Given the description of an element on the screen output the (x, y) to click on. 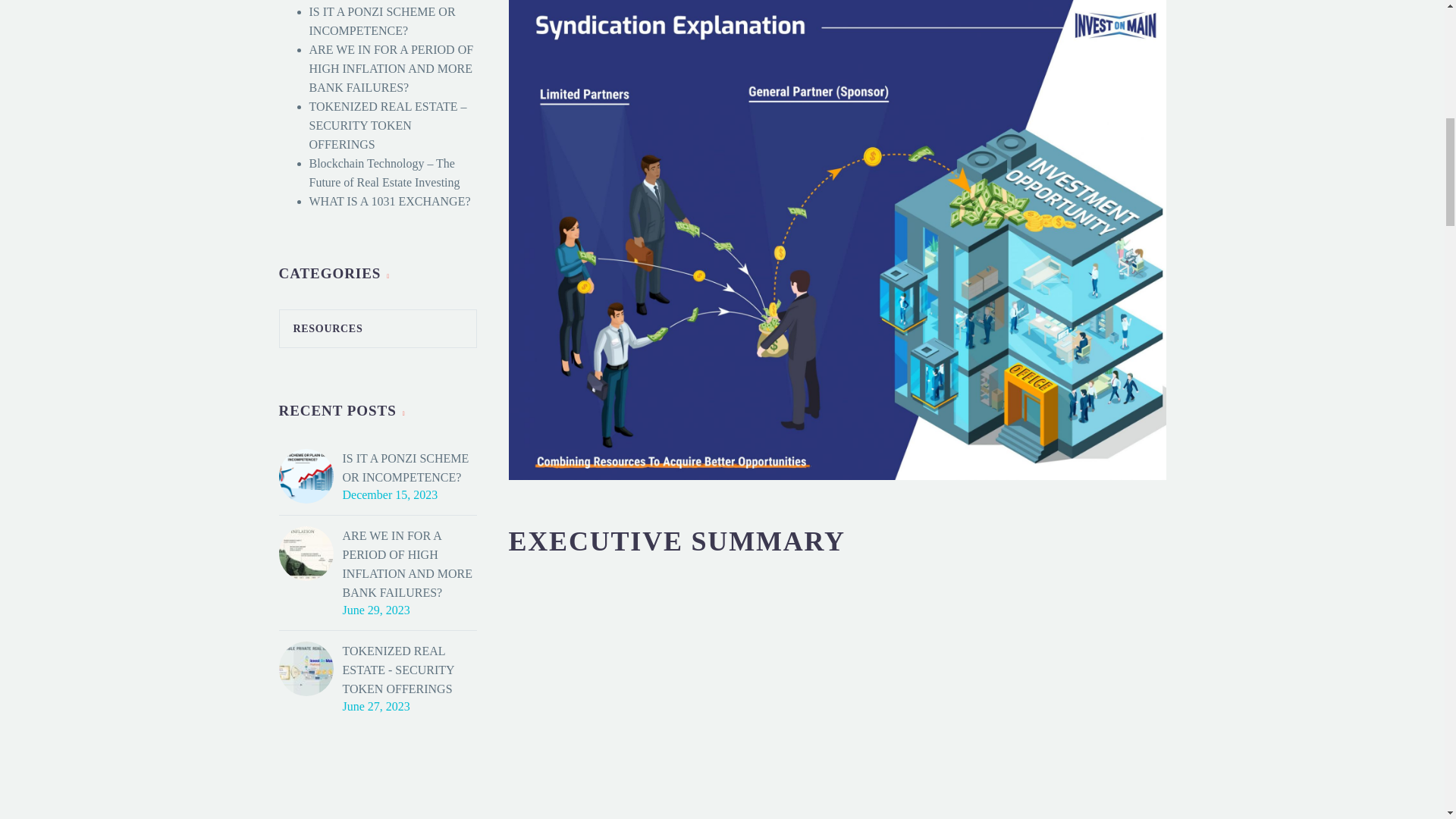
View all posts filed under Resources (320, 328)
